Given the description of an element on the screen output the (x, y) to click on. 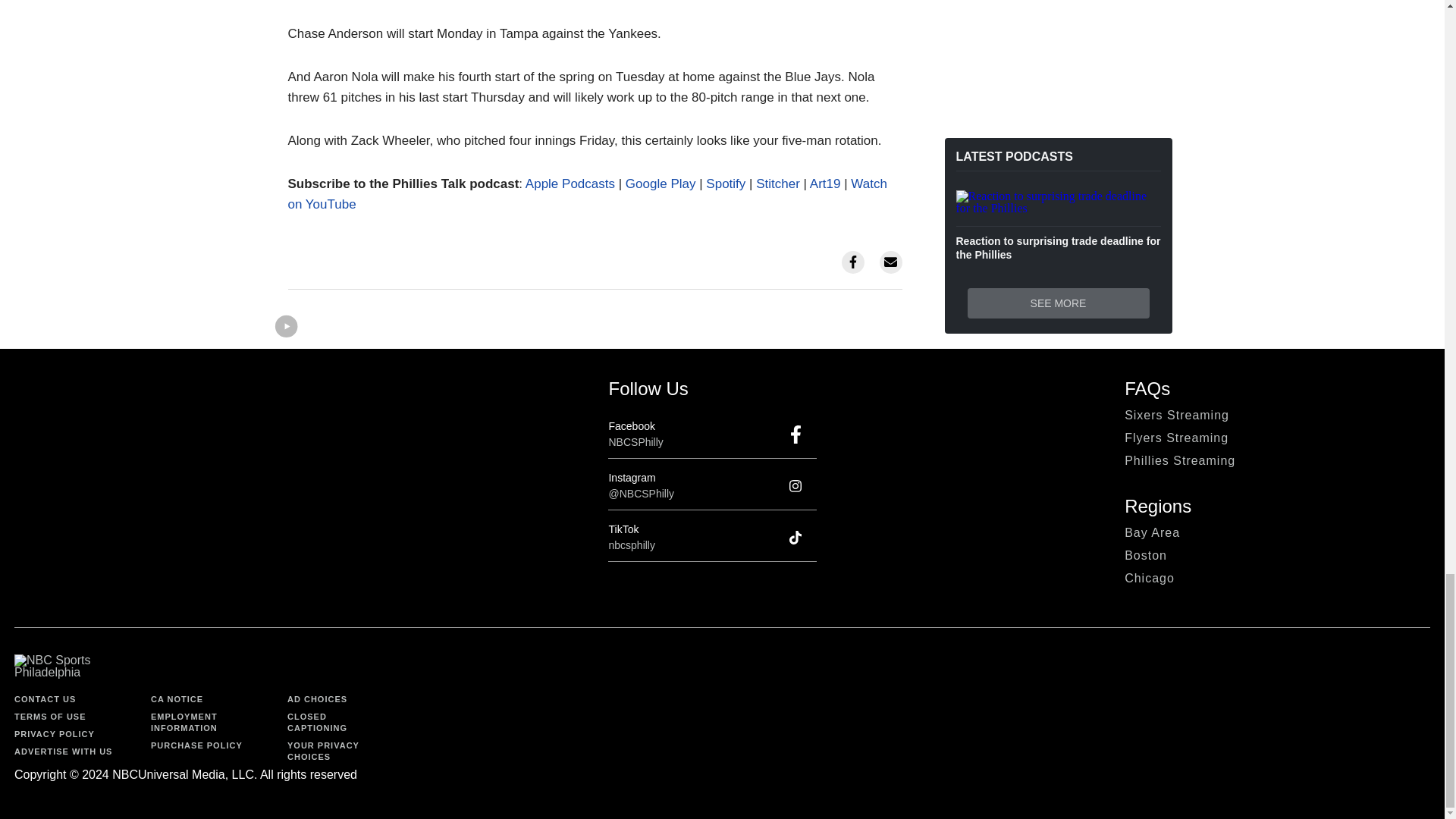
Apple Podcasts (569, 183)
Watch on YouTube (587, 193)
Stitcher (777, 183)
Art19 (825, 183)
Spotify (725, 183)
Google Play (660, 183)
